Given the description of an element on the screen output the (x, y) to click on. 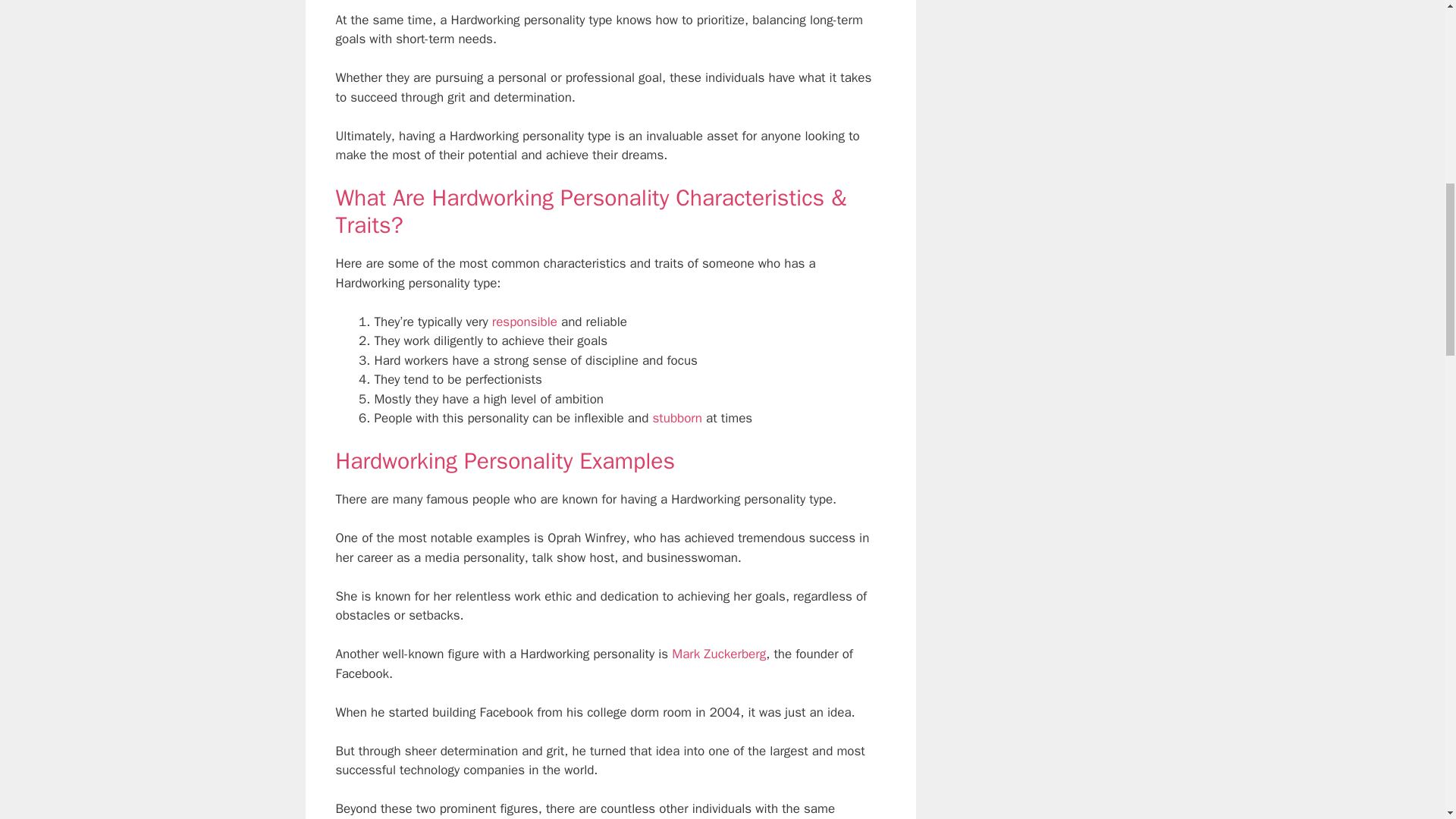
responsible (524, 321)
stubborn (676, 417)
Mark Zuckerberg (718, 653)
